Given the description of an element on the screen output the (x, y) to click on. 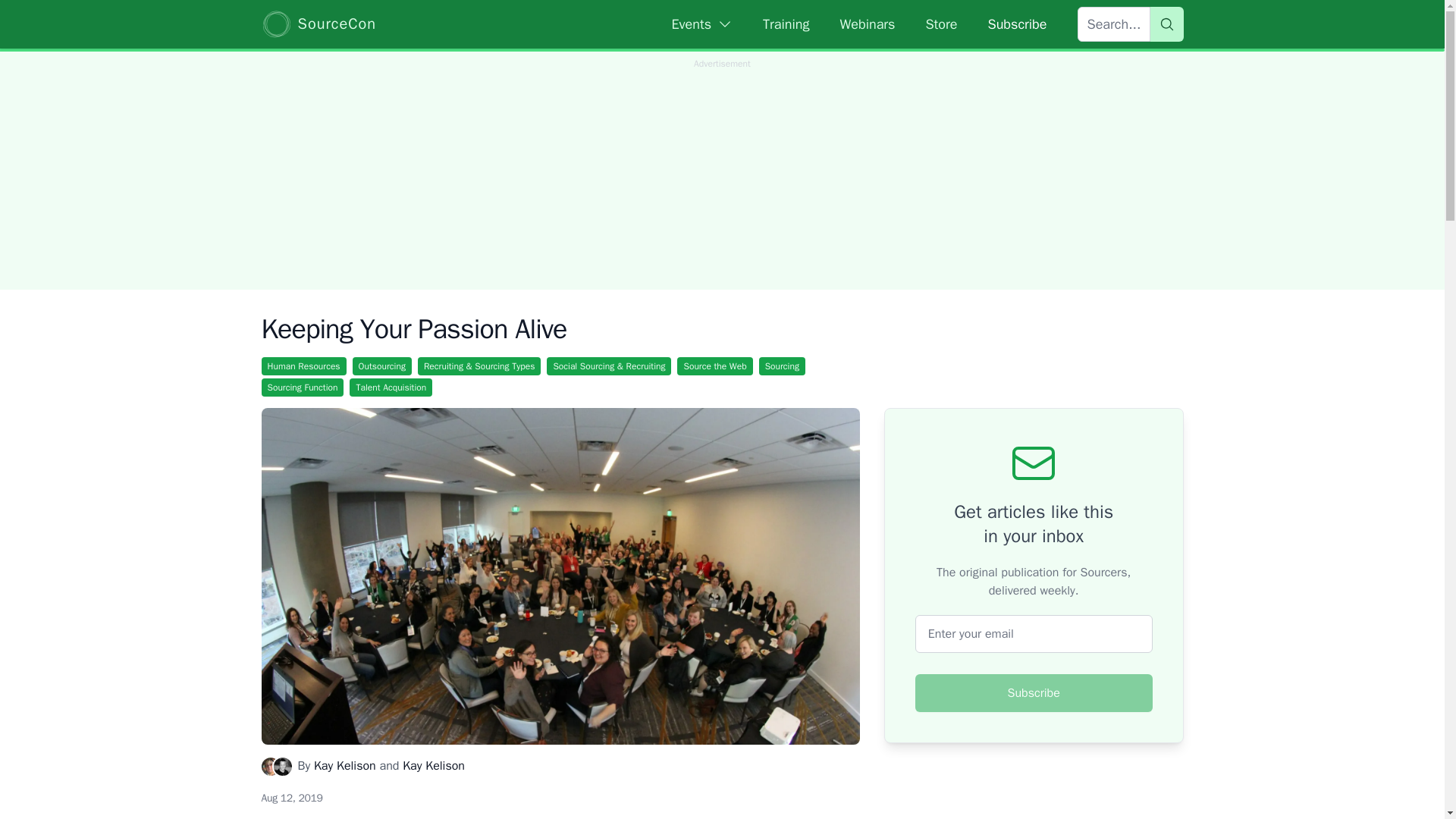
Kay Kelison (344, 765)
Source the Web (714, 366)
Kay Kelison (433, 765)
Training (785, 24)
Human Resources (303, 366)
SourceCon (317, 24)
Events (702, 24)
Subscribe (1034, 692)
Subscribe (1016, 24)
Sourcing (781, 366)
Store (940, 24)
Outsourcing (382, 366)
Talent Acquisition (390, 387)
Webinars (867, 24)
Sourcing Function (301, 387)
